Given the description of an element on the screen output the (x, y) to click on. 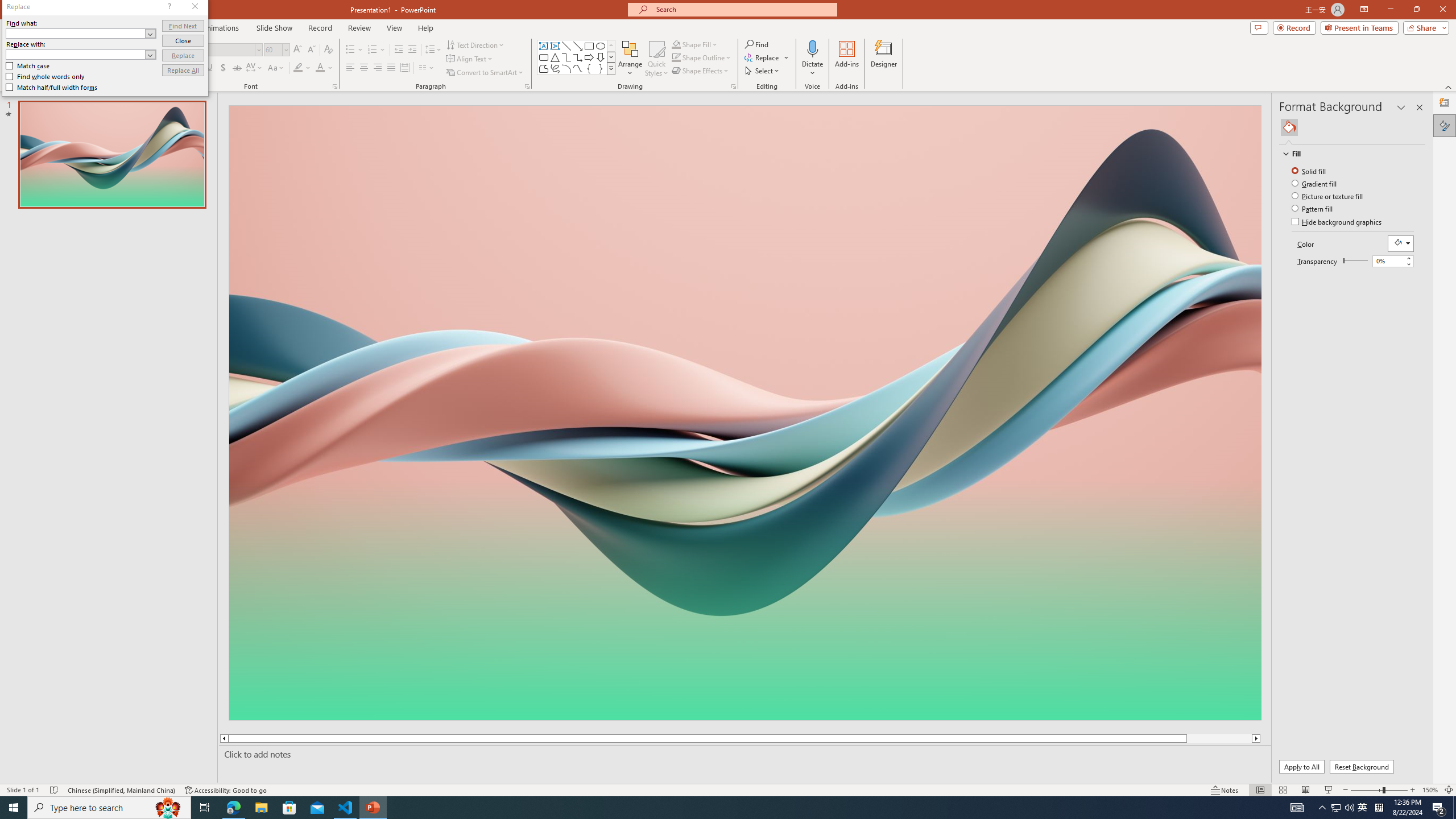
Match case (27, 65)
Decorative Locked (744, 579)
Solid fill (1309, 170)
